Given the description of an element on the screen output the (x, y) to click on. 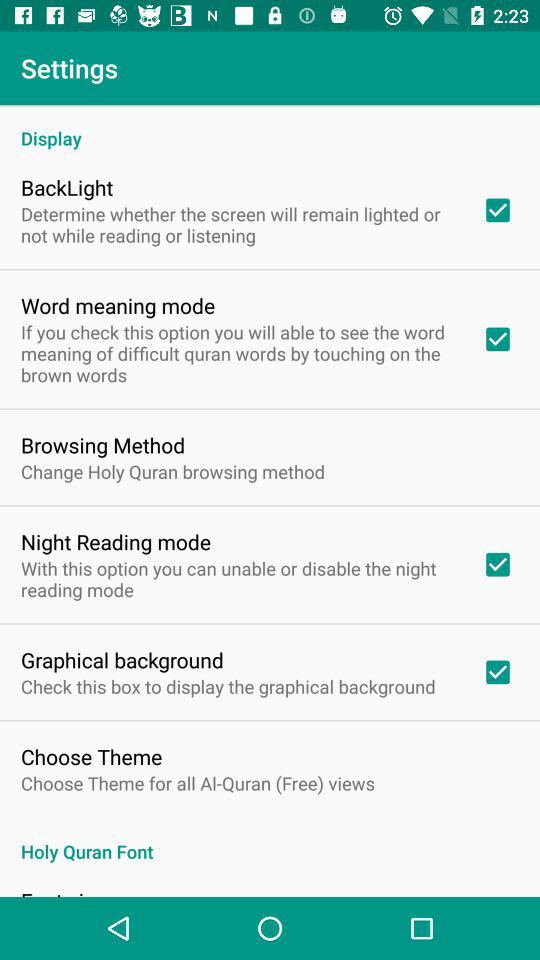
launch determine whether the item (238, 224)
